Given the description of an element on the screen output the (x, y) to click on. 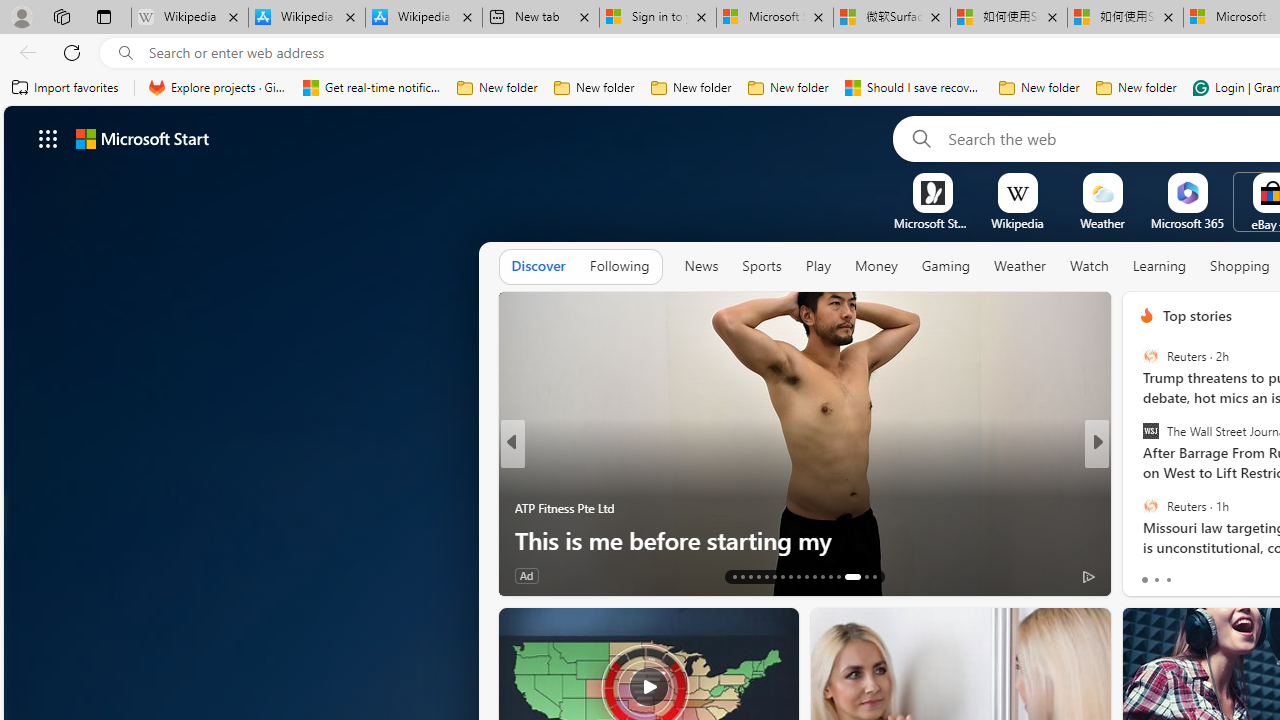
New folder (1136, 88)
More Options (1219, 179)
AutomationID: tab-28 (859, 576)
